Given the description of an element on the screen output the (x, y) to click on. 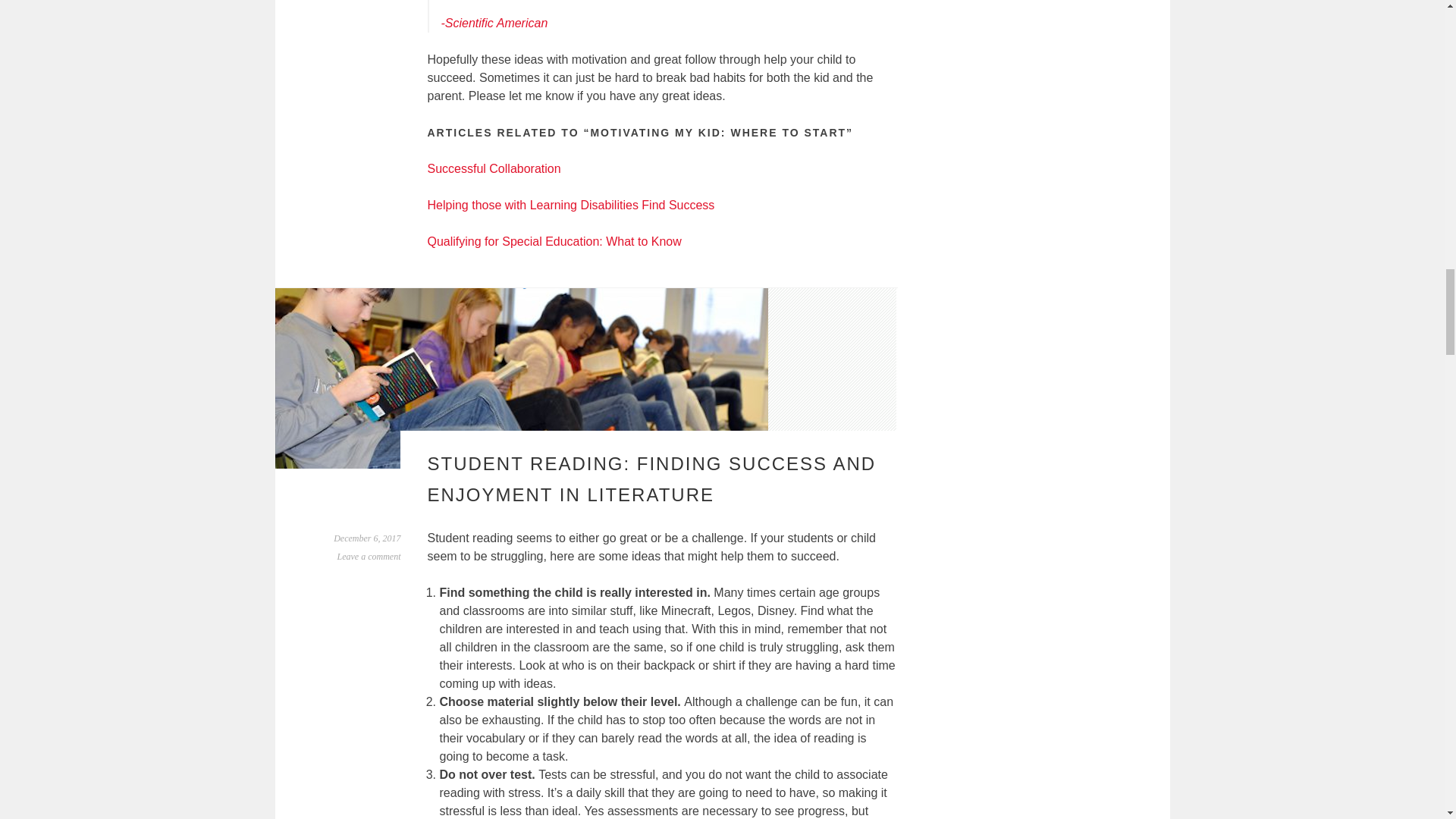
Leave a comment (369, 556)
Qualifying for Special Education: What to Know (554, 241)
Successful Collaboration (494, 168)
December 6, 2017 (366, 538)
STUDENT READING: FINDING SUCCESS AND ENJOYMENT IN LITERATURE (652, 479)
-Scientific American (494, 22)
Helping those with Learning Disabilities Find Success (571, 205)
